Given the description of an element on the screen output the (x, y) to click on. 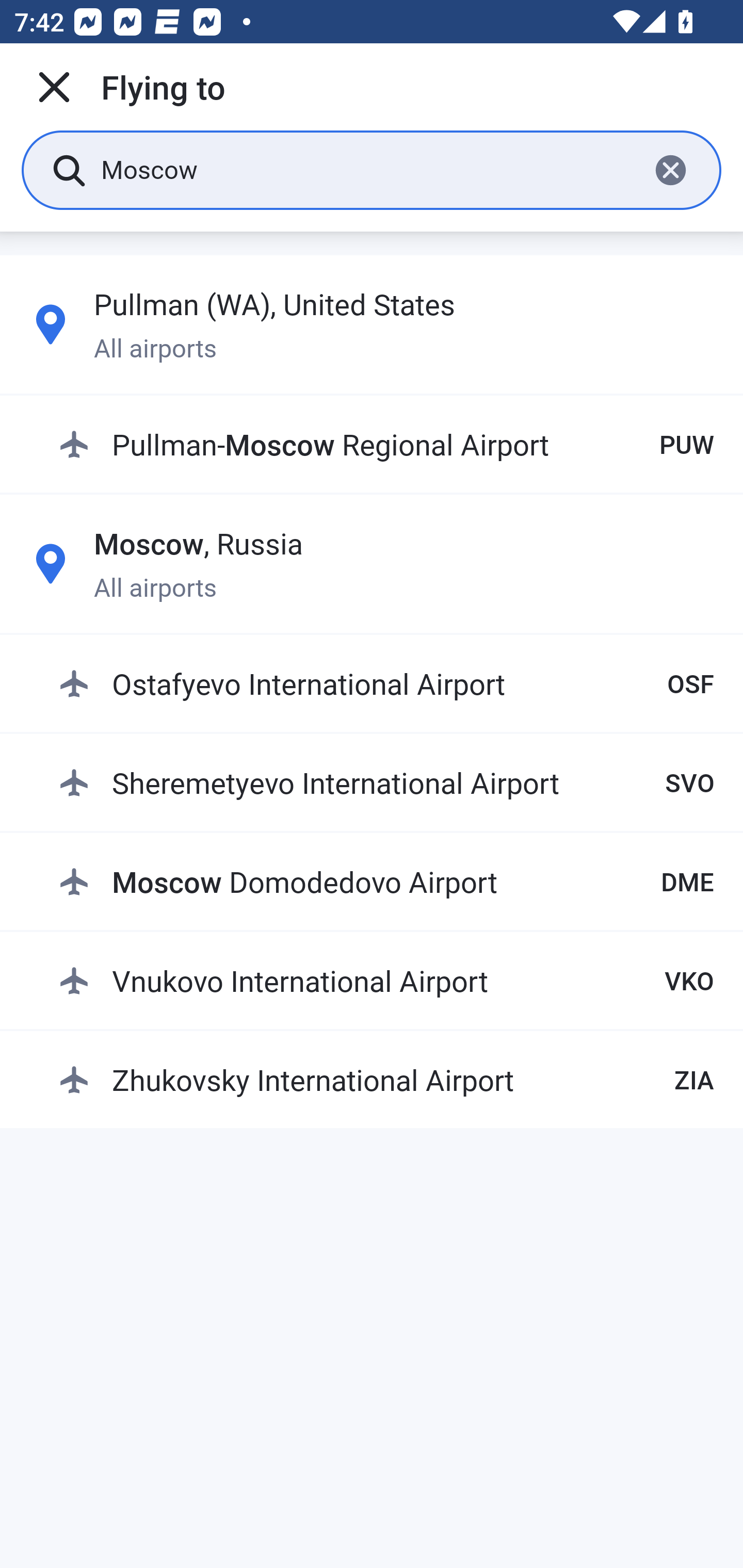
Moscow (367, 169)
Pullman (WA), United States All airports (371, 324)
Pullman-Moscow Regional Airport PUW (385, 444)
Moscow, Russia All airports (371, 563)
Ostafyevo International Airport OSF (385, 682)
Sheremetyevo International Airport SVO (385, 782)
Moscow Domodedovo Airport DME (385, 881)
Vnukovo International Airport VKO (385, 980)
Zhukovsky International Airport ZIA (385, 1079)
